Given the description of an element on the screen output the (x, y) to click on. 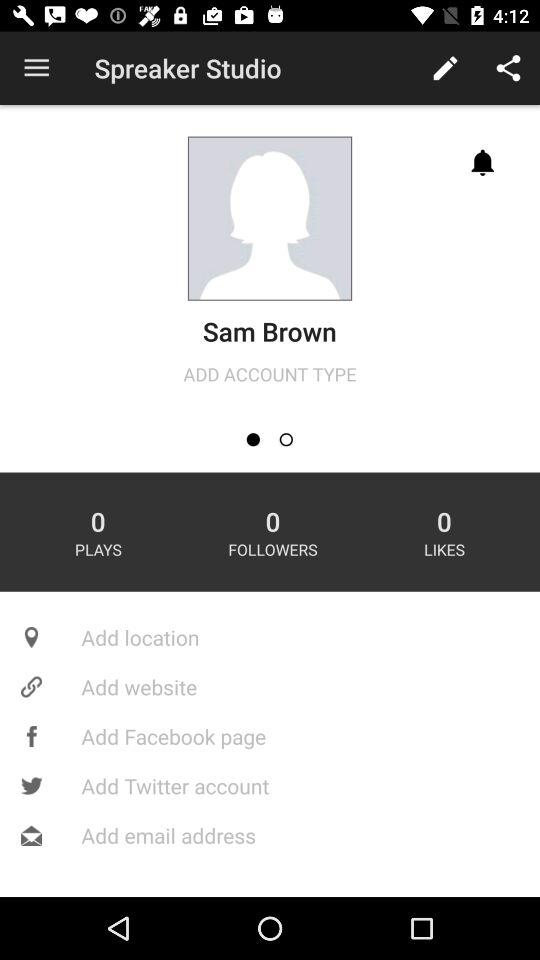
choose add facebook page item (270, 736)
